Given the description of an element on the screen output the (x, y) to click on. 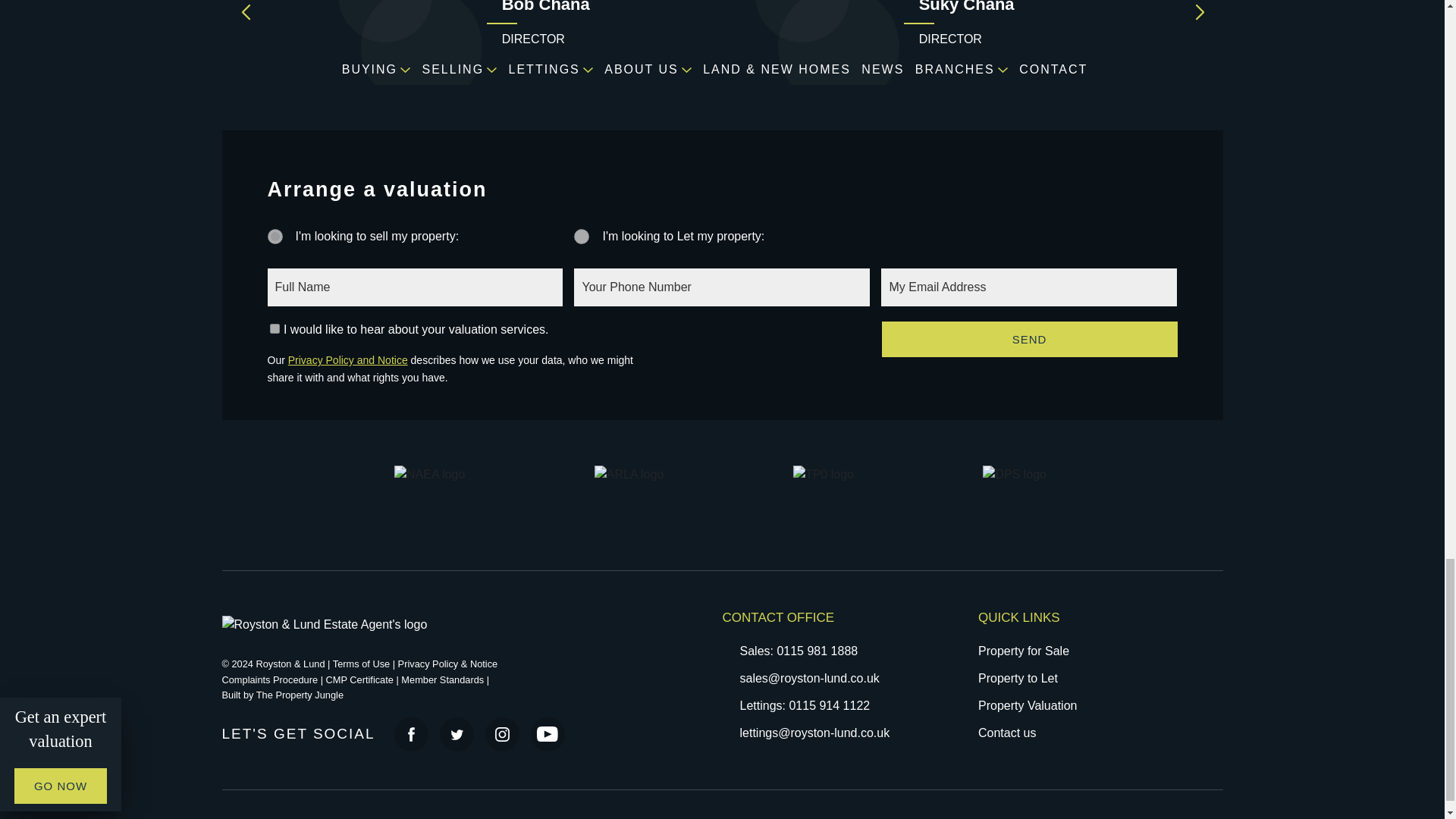
Let my property (581, 236)
SEND (1029, 339)
Terms of Use (361, 663)
Privacy Policy and Notice (347, 359)
yes (273, 328)
Sell my property (274, 236)
Privacy Policy (447, 663)
